Given the description of an element on the screen output the (x, y) to click on. 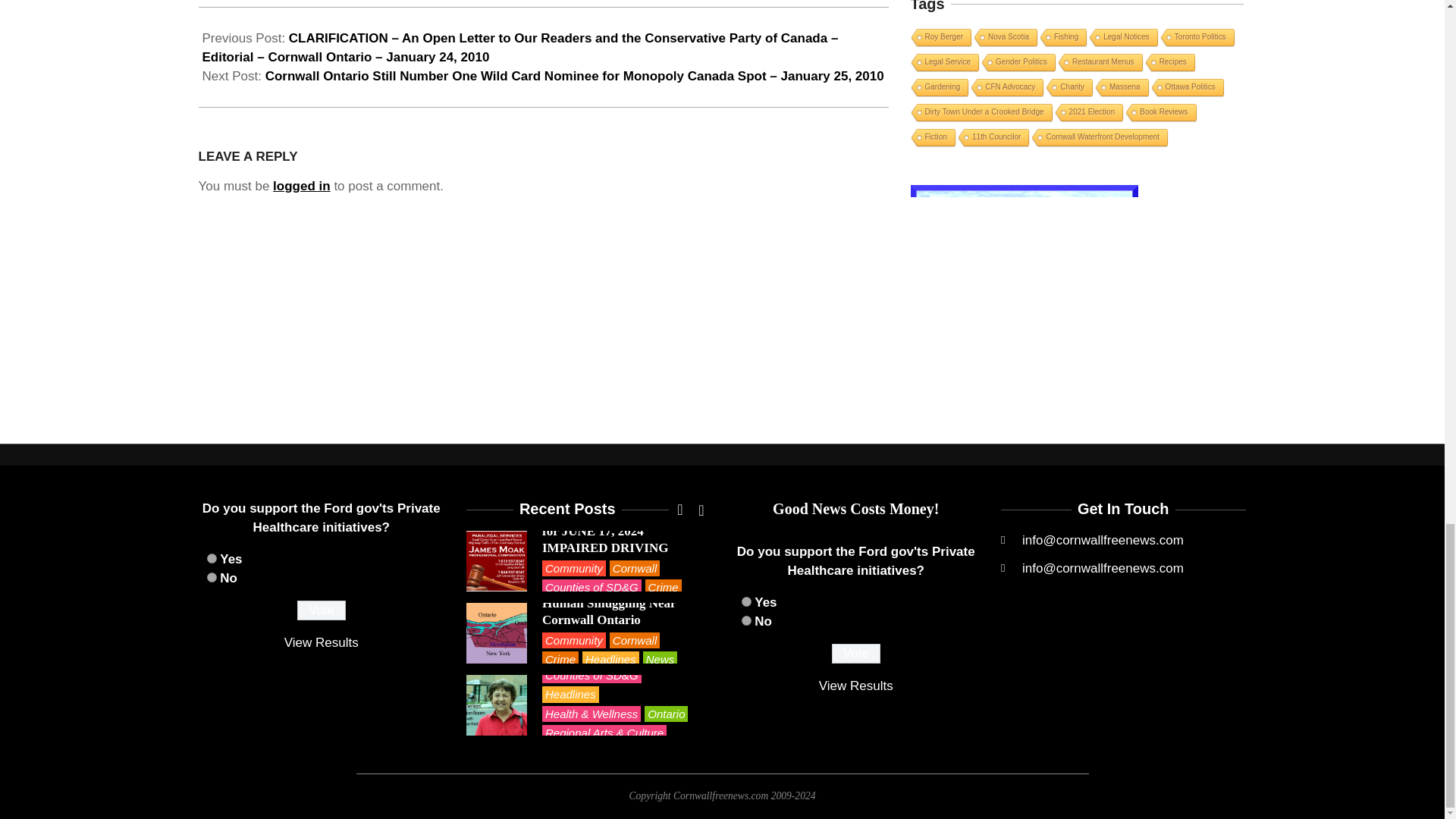
View Results Of This Poll (855, 685)
1777 (746, 620)
1776 (210, 558)
1777 (210, 577)
   Vote    (855, 653)
View Results Of This Poll (320, 642)
1776 (746, 601)
   Vote    (321, 609)
